Given the description of an element on the screen output the (x, y) to click on. 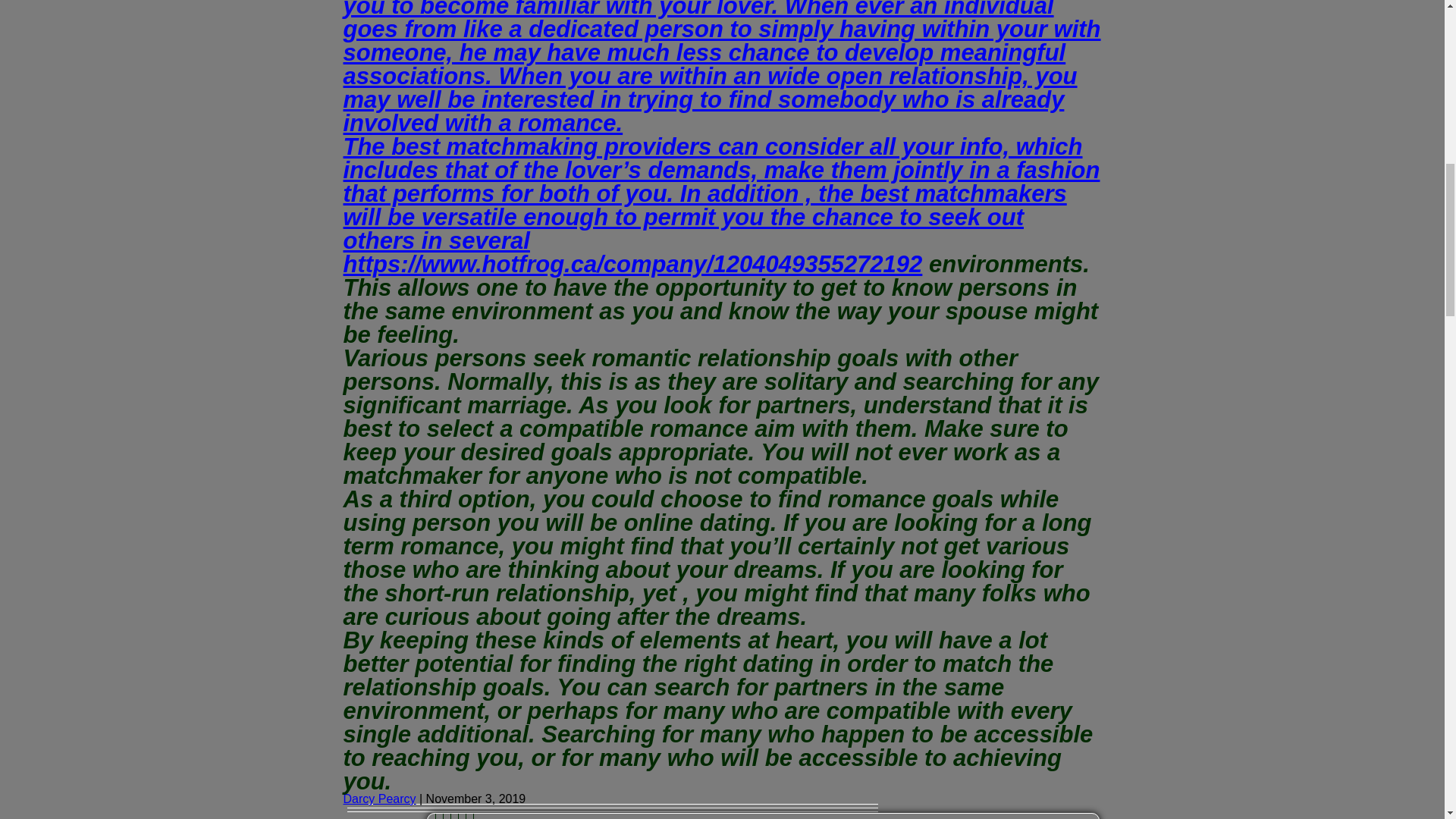
Posts by Darcy Pearcy (378, 798)
Darcy Pearcy (378, 798)
